Given the description of an element on the screen output the (x, y) to click on. 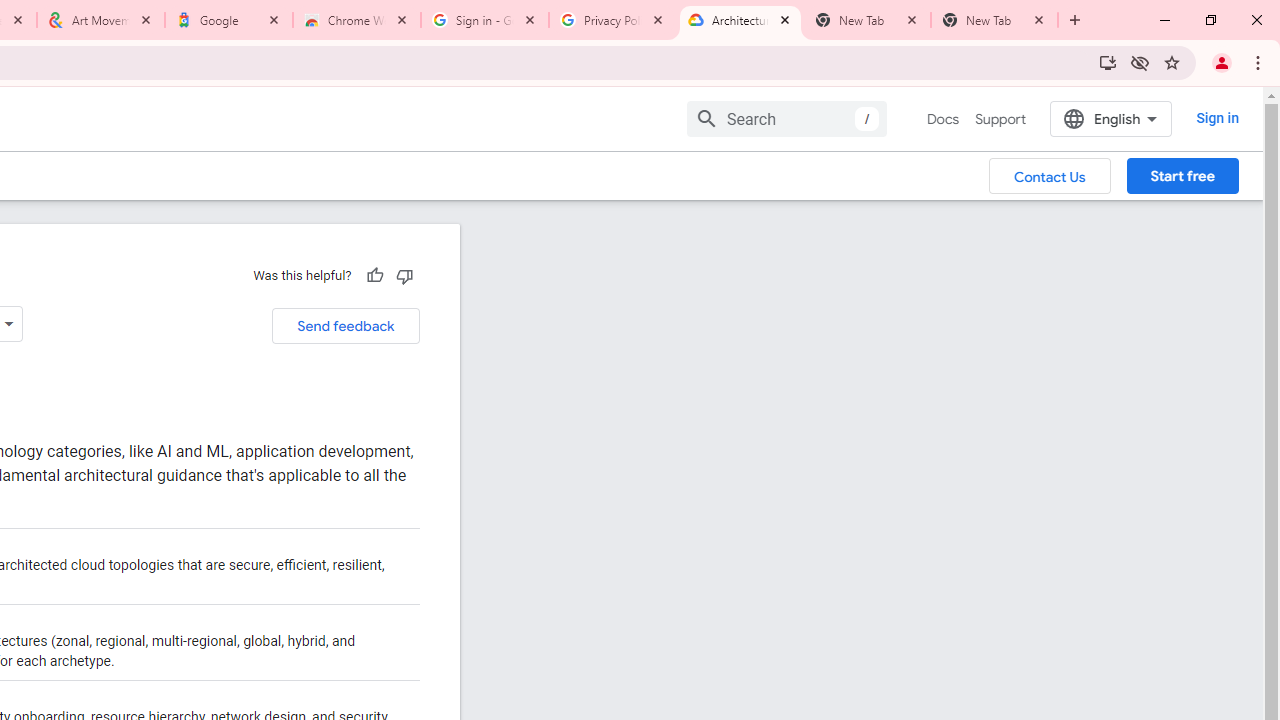
Support (1000, 119)
Sign in - Google Accounts (485, 20)
English (1110, 118)
Not helpful (404, 275)
Install Google Cloud (1107, 62)
